Given the description of an element on the screen output the (x, y) to click on. 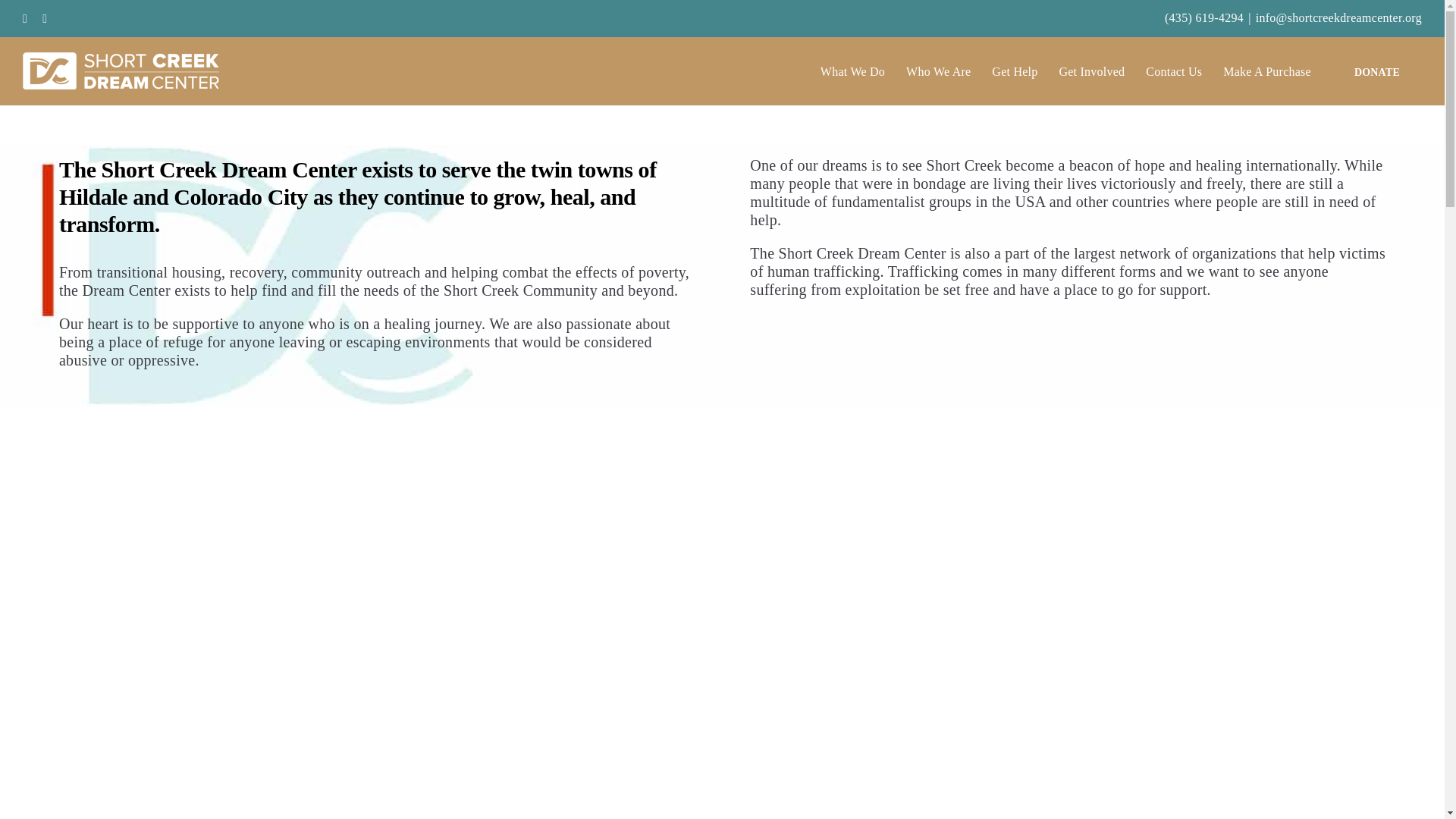
DONATE (1377, 70)
Who We Are (938, 70)
Make A Purchase (1267, 70)
What We Do (853, 70)
Get Involved (1091, 70)
